Given the description of an element on the screen output the (x, y) to click on. 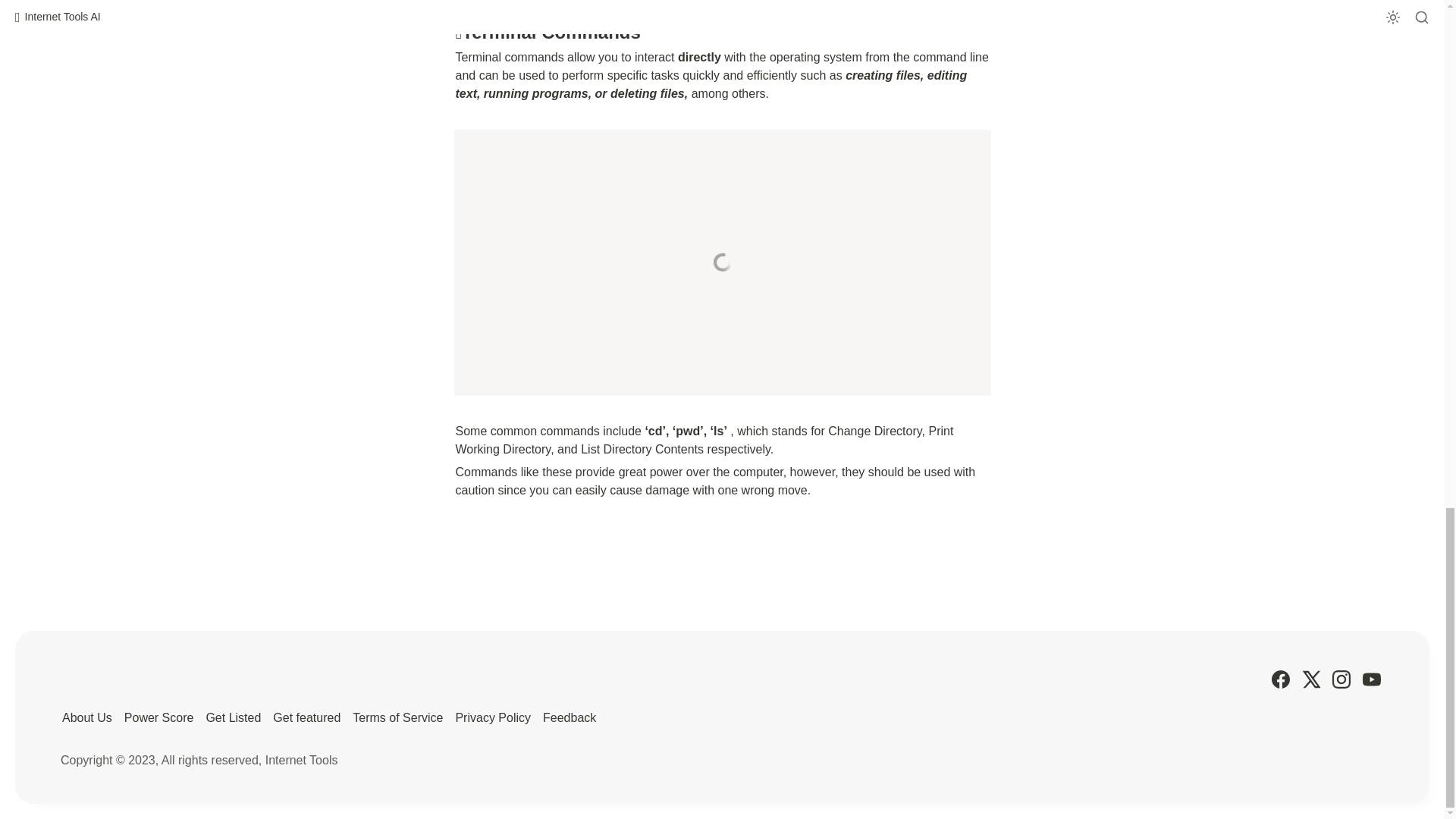
Get Listed (232, 718)
Power Score (158, 718)
Facebook (1280, 679)
Feedback (568, 718)
YouTube (1371, 679)
Get featured (306, 718)
Privacy Policy (492, 718)
www.youtube.com (721, 262)
Instagram (1341, 679)
YouTube (1371, 679)
Terms of Service (397, 718)
X (1310, 679)
Facebook (1280, 679)
Instagram (1341, 679)
X (1310, 679)
